Given the description of an element on the screen output the (x, y) to click on. 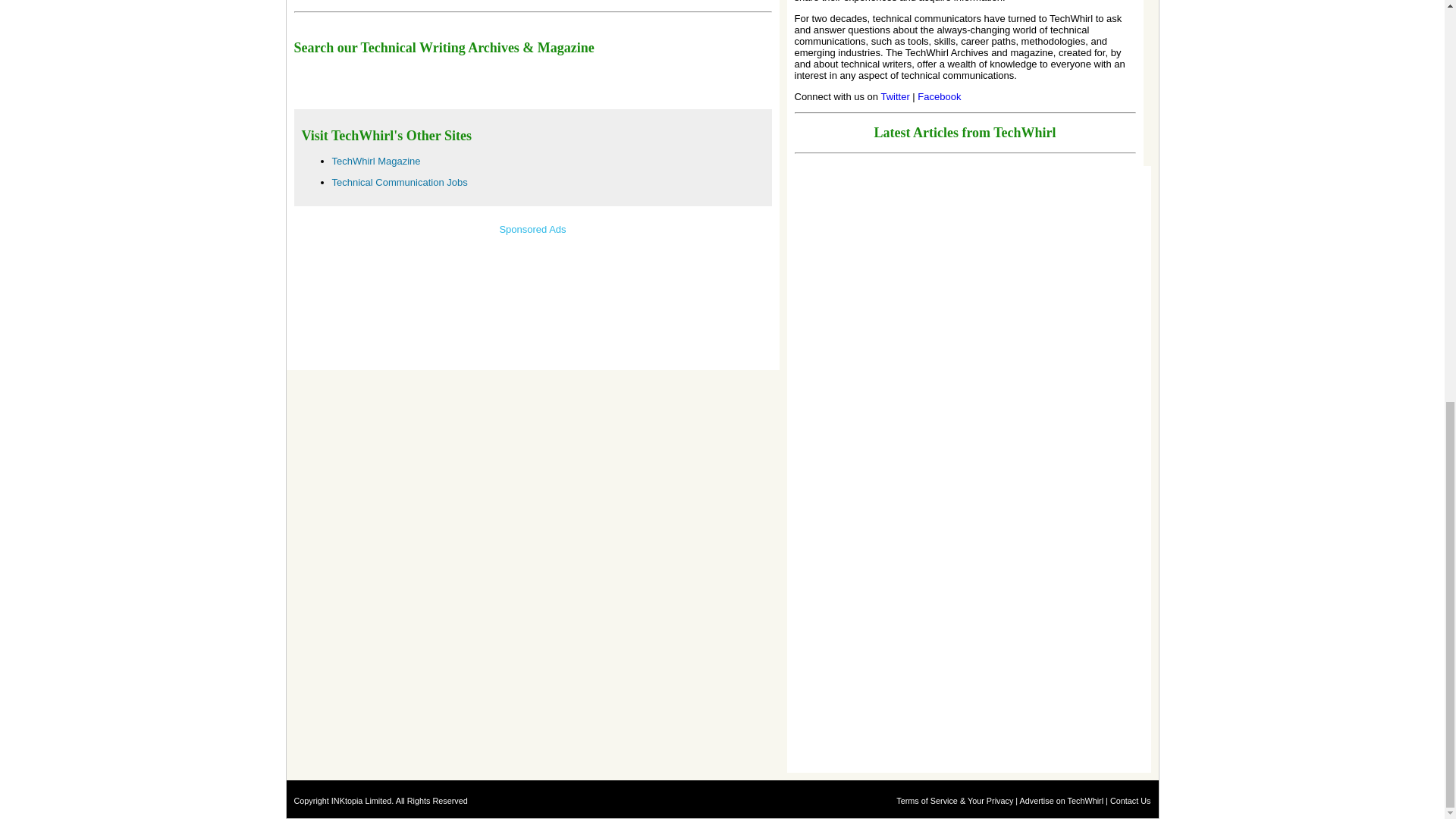
Technical Communication Jobs (399, 182)
Contact Us (1130, 800)
TechWhirl Magazine (375, 161)
Facebook (938, 96)
INKtopia Limited (361, 800)
Twitter (896, 96)
